Given the description of an element on the screen output the (x, y) to click on. 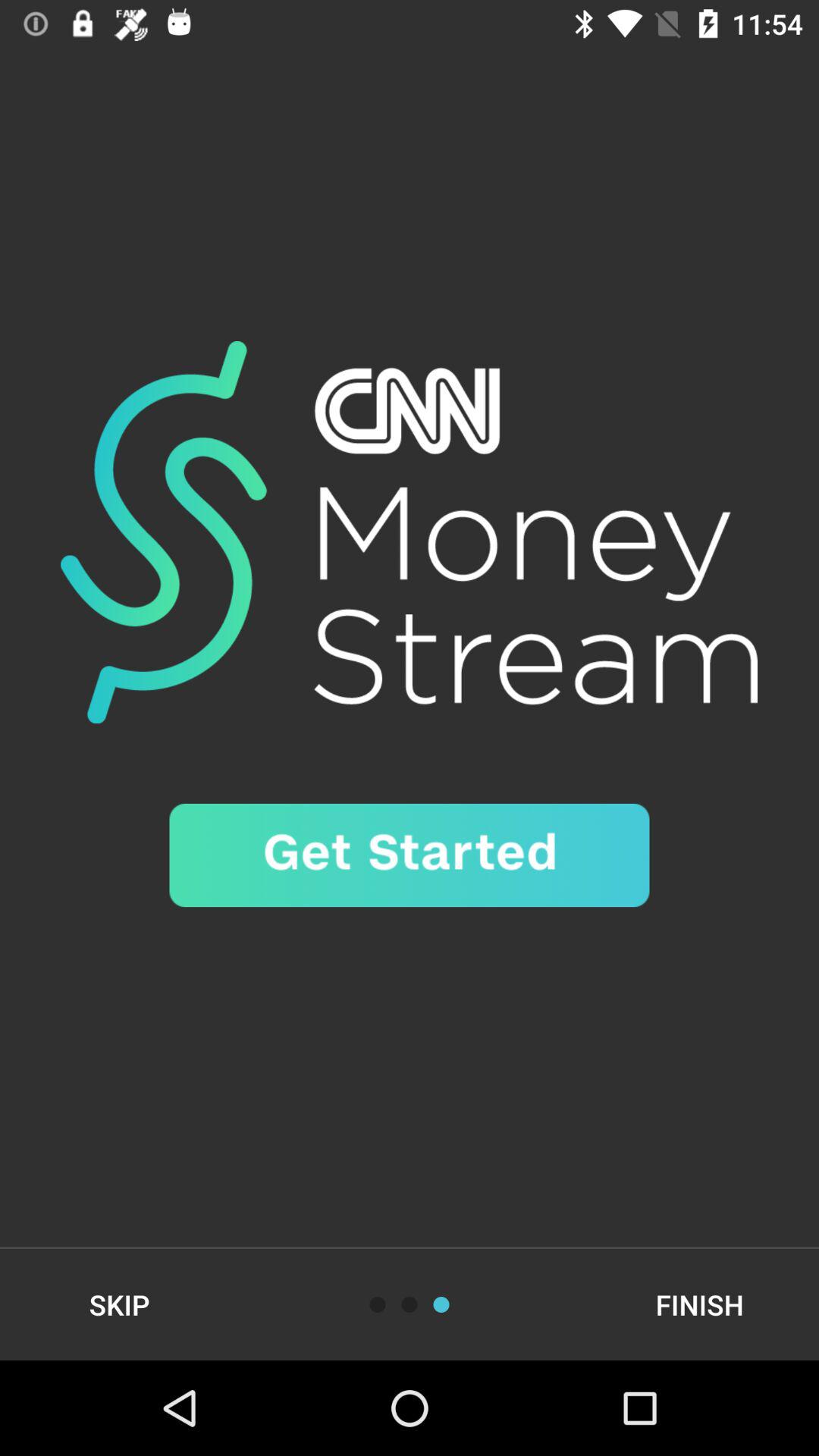
click the item at the bottom left corner (119, 1304)
